Given the description of an element on the screen output the (x, y) to click on. 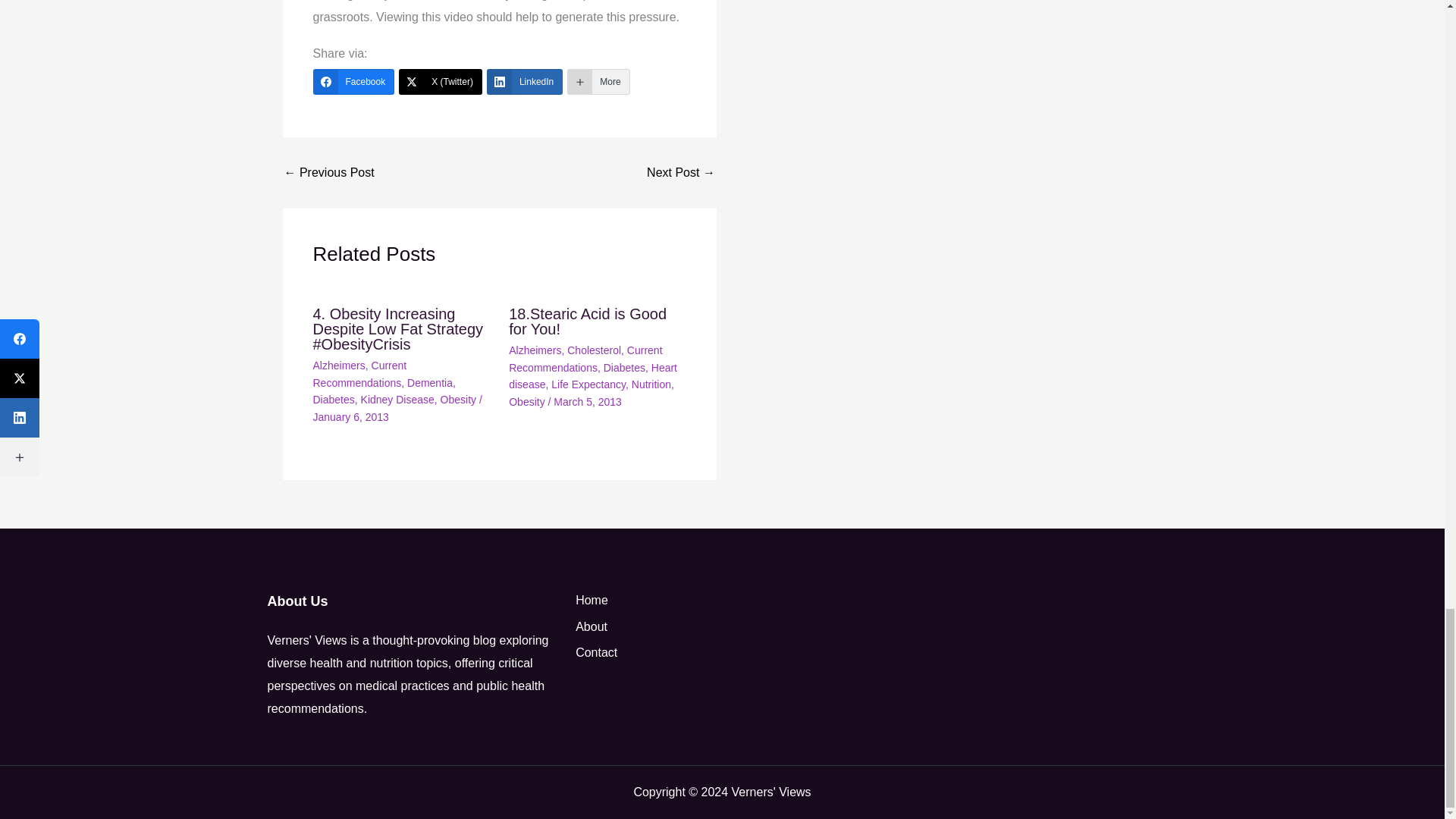
Facebook (353, 81)
LinkedIn (524, 81)
Diabetes (333, 399)
Dementia (429, 382)
Nutrition (651, 384)
Alzheimers (534, 349)
Diabetes (624, 367)
Current Recommendations (359, 373)
Heart disease (592, 375)
Alzheimers (339, 365)
Current Recommendations (585, 358)
Obesity (458, 399)
Kidney Disease (397, 399)
More (597, 81)
